Given the description of an element on the screen output the (x, y) to click on. 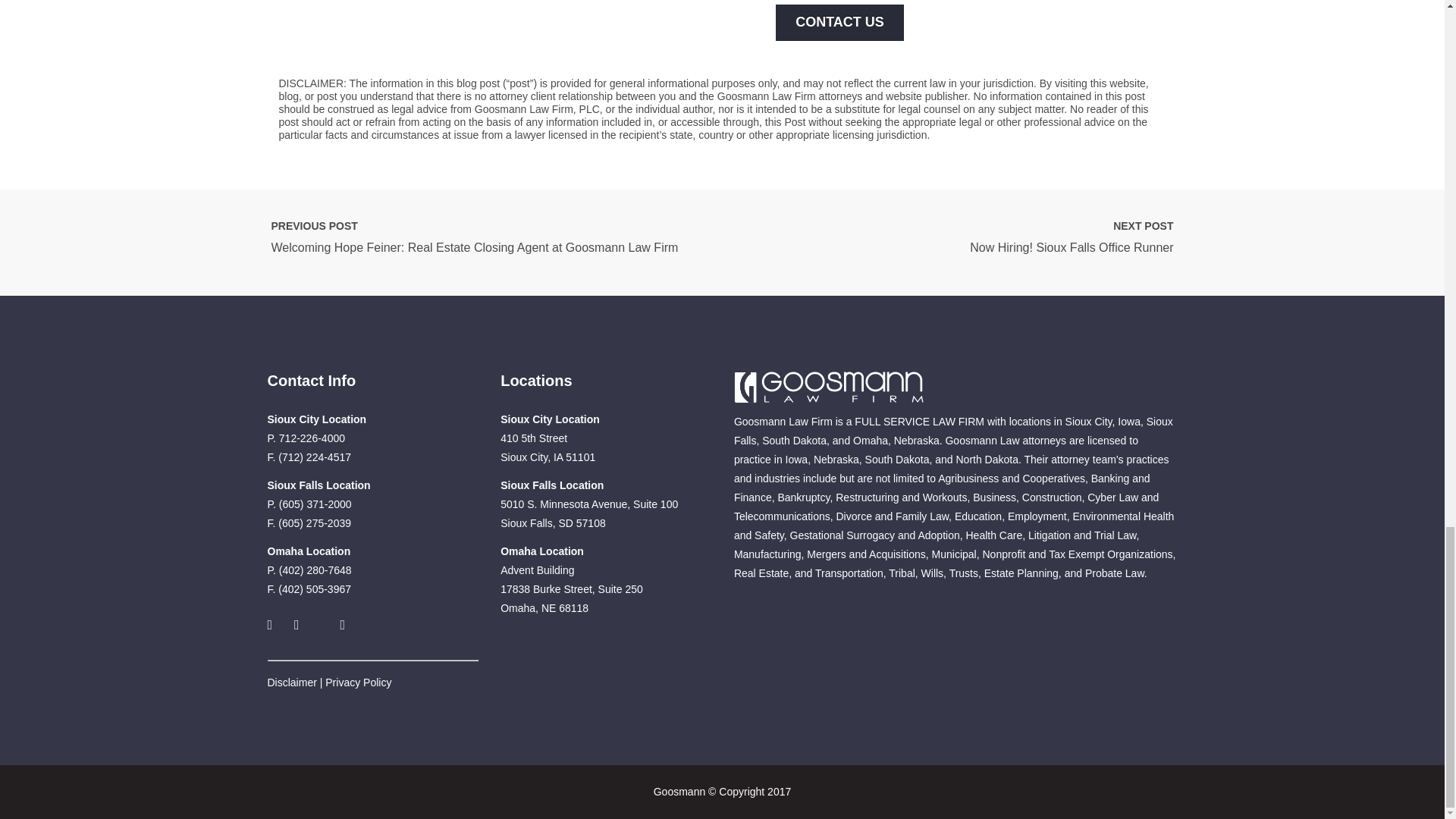
CONTACT US (840, 22)
Goosmann (828, 387)
